Given the description of an element on the screen output the (x, y) to click on. 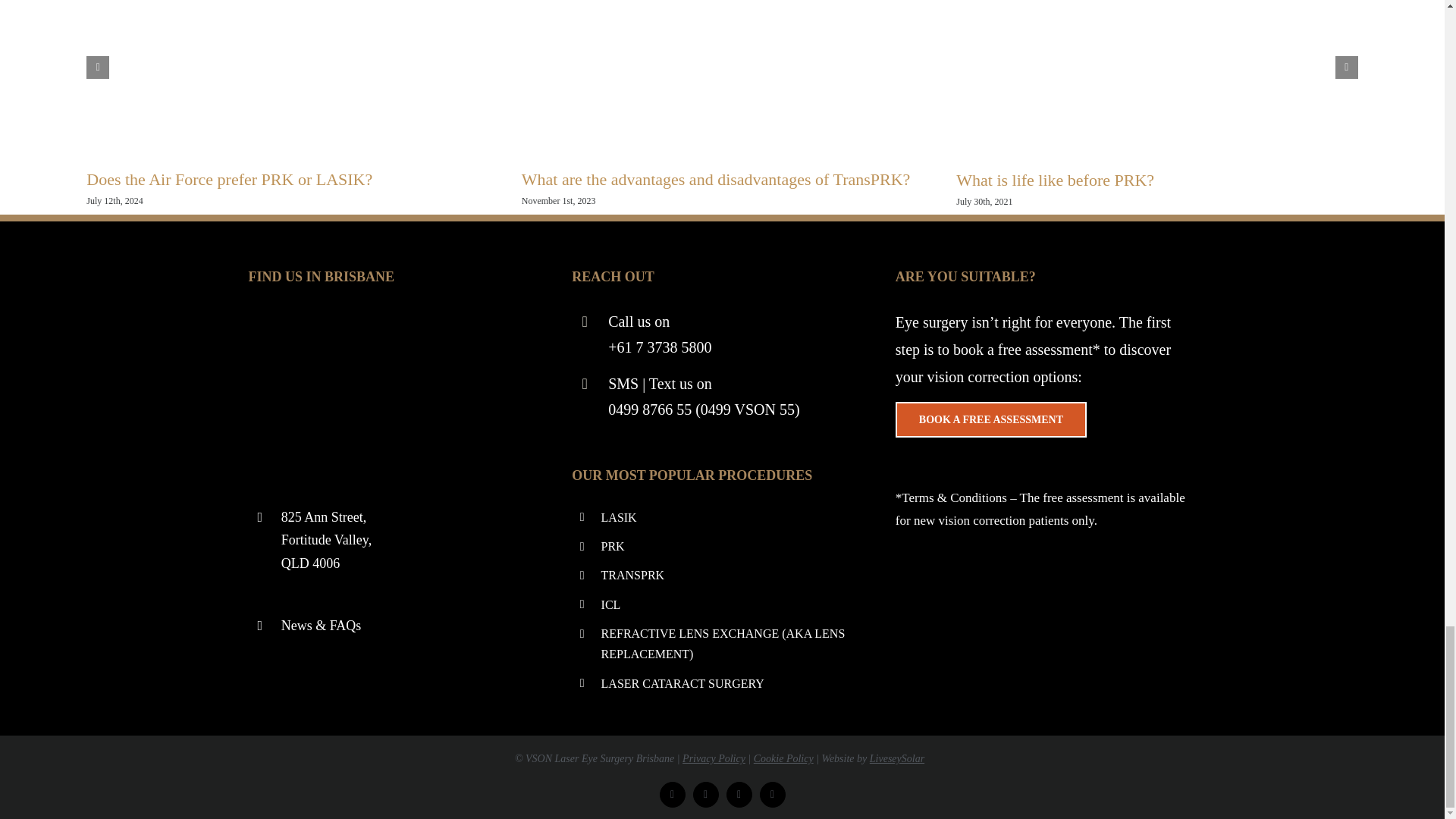
Facebook (672, 794)
LinkedIn (706, 794)
What is life like before PRK? (1055, 179)
Instagram (739, 794)
What are the advantages and disadvantages of TransPRK? (716, 179)
Does the Air Force prefer PRK or LASIK? (228, 179)
